Given the description of an element on the screen output the (x, y) to click on. 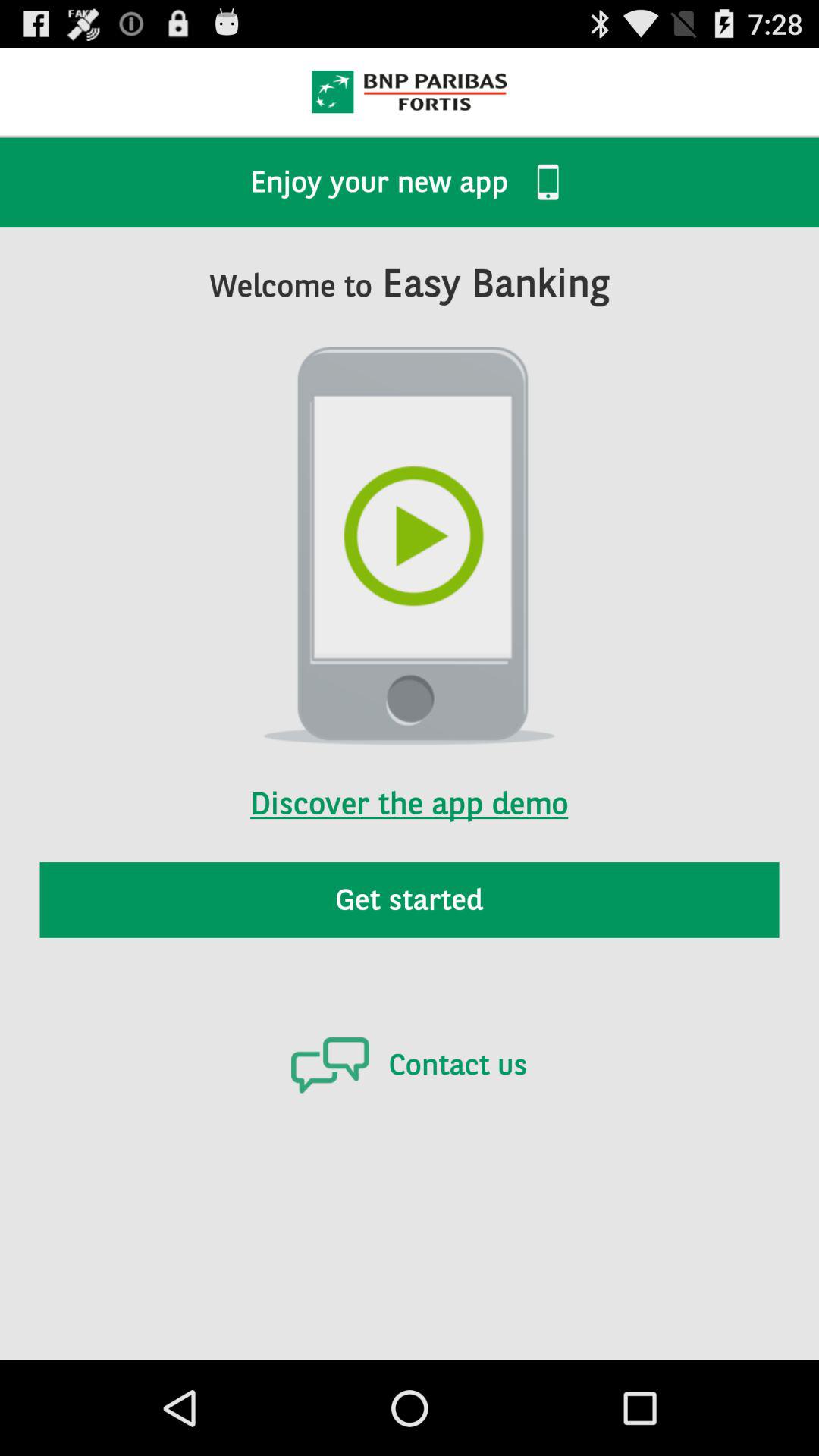
select discover the app (409, 783)
